Given the description of an element on the screen output the (x, y) to click on. 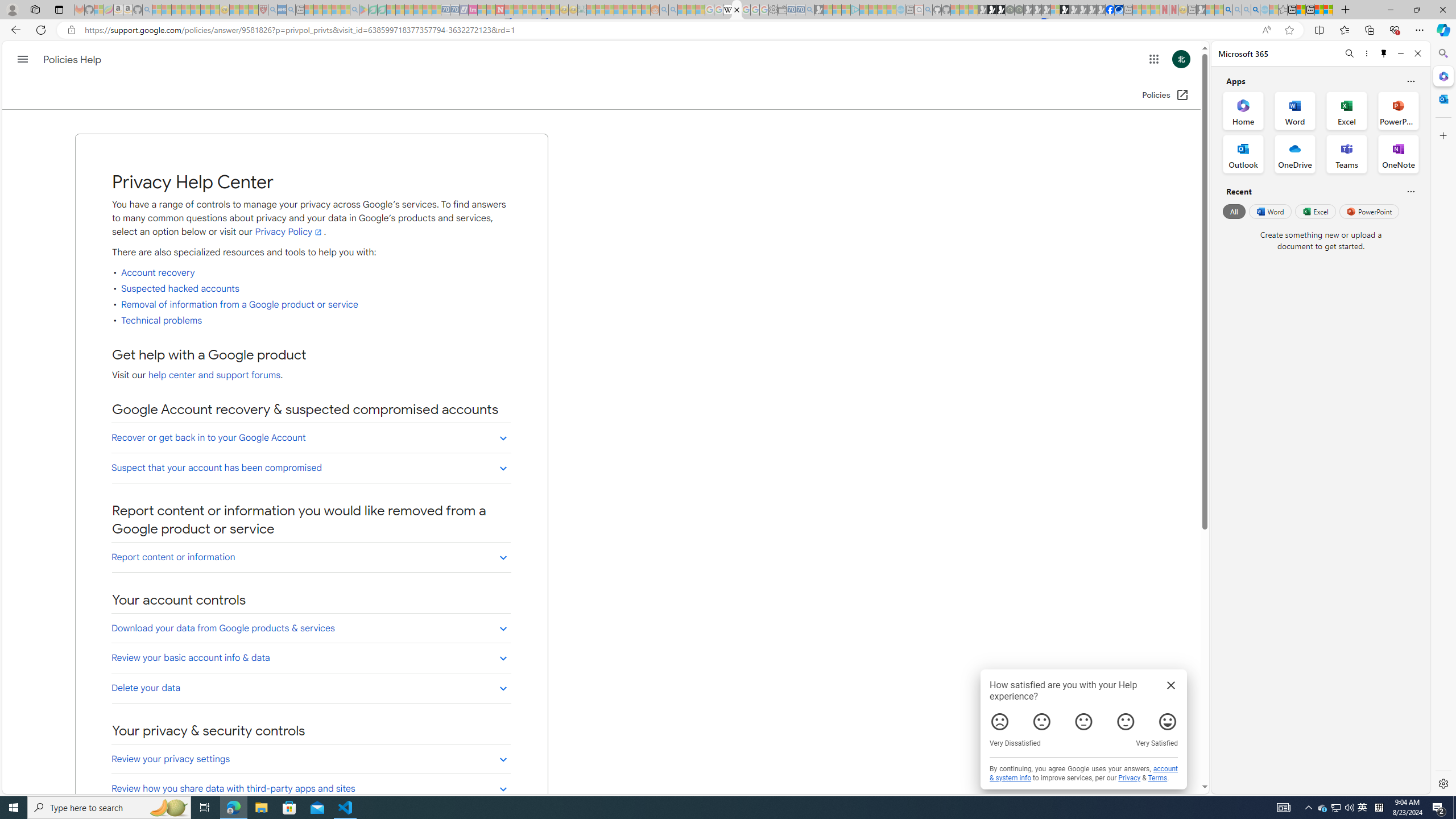
OneDrive Office App (1295, 154)
Delete your data (311, 687)
Word Office App (1295, 110)
Privacy, Opens in new tab (1129, 777)
Smiley 3 of 5. Neither satisfied nor dissatisfied (1083, 721)
Review your basic account info & data (311, 657)
Smiley 4 of 5. Somewhat satisfied (1126, 721)
